Given the description of an element on the screen output the (x, y) to click on. 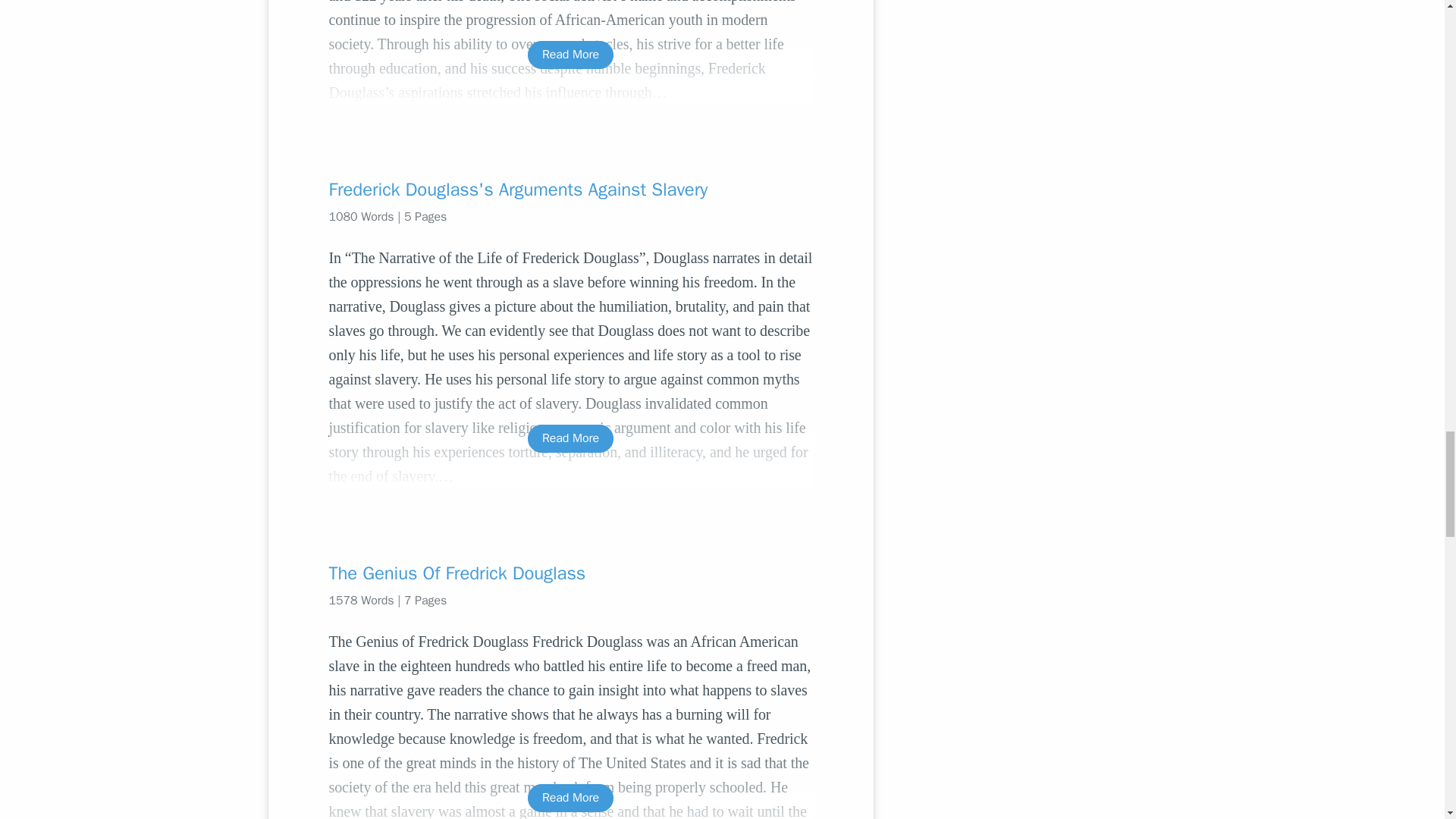
Read More (569, 54)
Read More (569, 438)
Frederick Douglass's Arguments Against Slavery (570, 189)
The Genius Of Fredrick Douglass (570, 573)
Read More (569, 797)
